Given the description of an element on the screen output the (x, y) to click on. 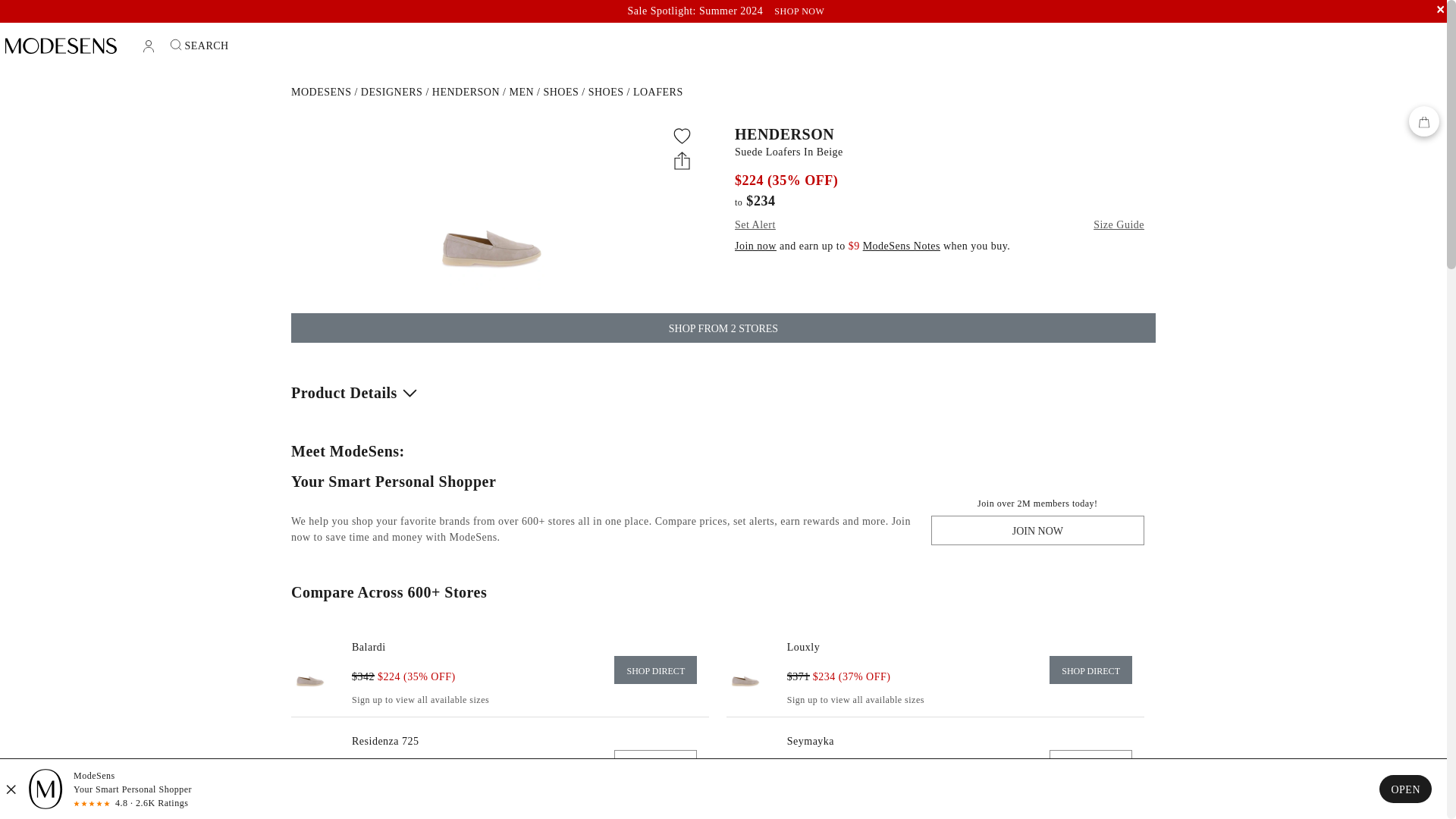
Henderson Shoes for Men (560, 91)
Henderson Men (521, 91)
Henderson Shoes for Men (606, 91)
Buy from store's website (368, 646)
Buy from store's website (803, 646)
Add to shopping lists (681, 135)
OPEN (1404, 788)
Designers (392, 91)
Share with Friends (681, 159)
ModeSens (320, 91)
Henderson Loafers for Men (657, 91)
Suede Loafers In Beige (939, 151)
HENDERSON (939, 133)
Buy from store's website (1090, 669)
Learn more about ModeSens membership (901, 245)
